Given the description of an element on the screen output the (x, y) to click on. 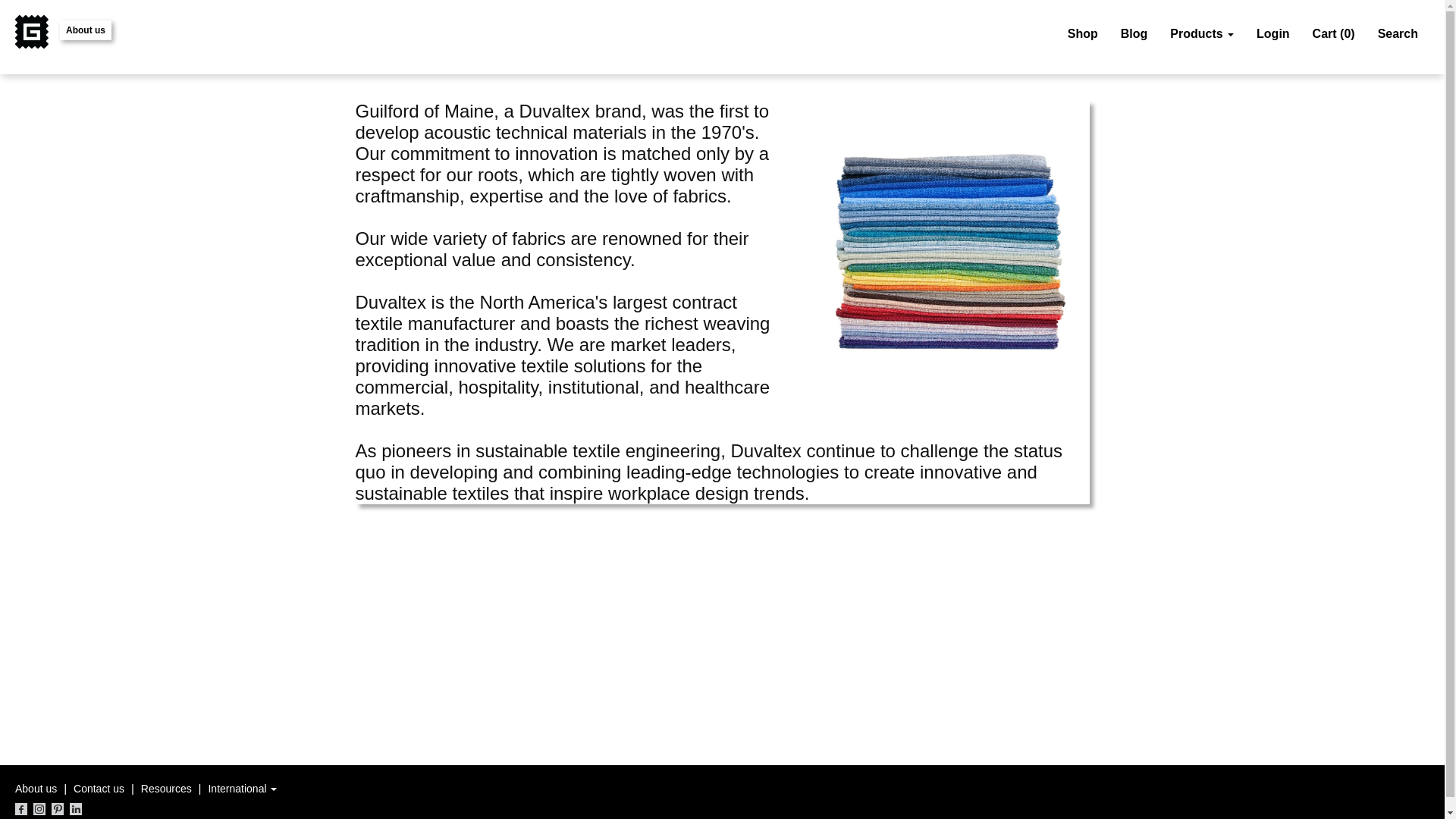
About us (35, 788)
International (242, 788)
Shop (1083, 34)
About us (85, 30)
Search (1398, 34)
Facebook (20, 808)
Contact us (98, 788)
Products (1201, 34)
Resources (166, 788)
LinkedIn (75, 808)
Login (1272, 34)
Pinterest (57, 808)
Instragram (39, 808)
Blog (1133, 34)
